Given the description of an element on the screen output the (x, y) to click on. 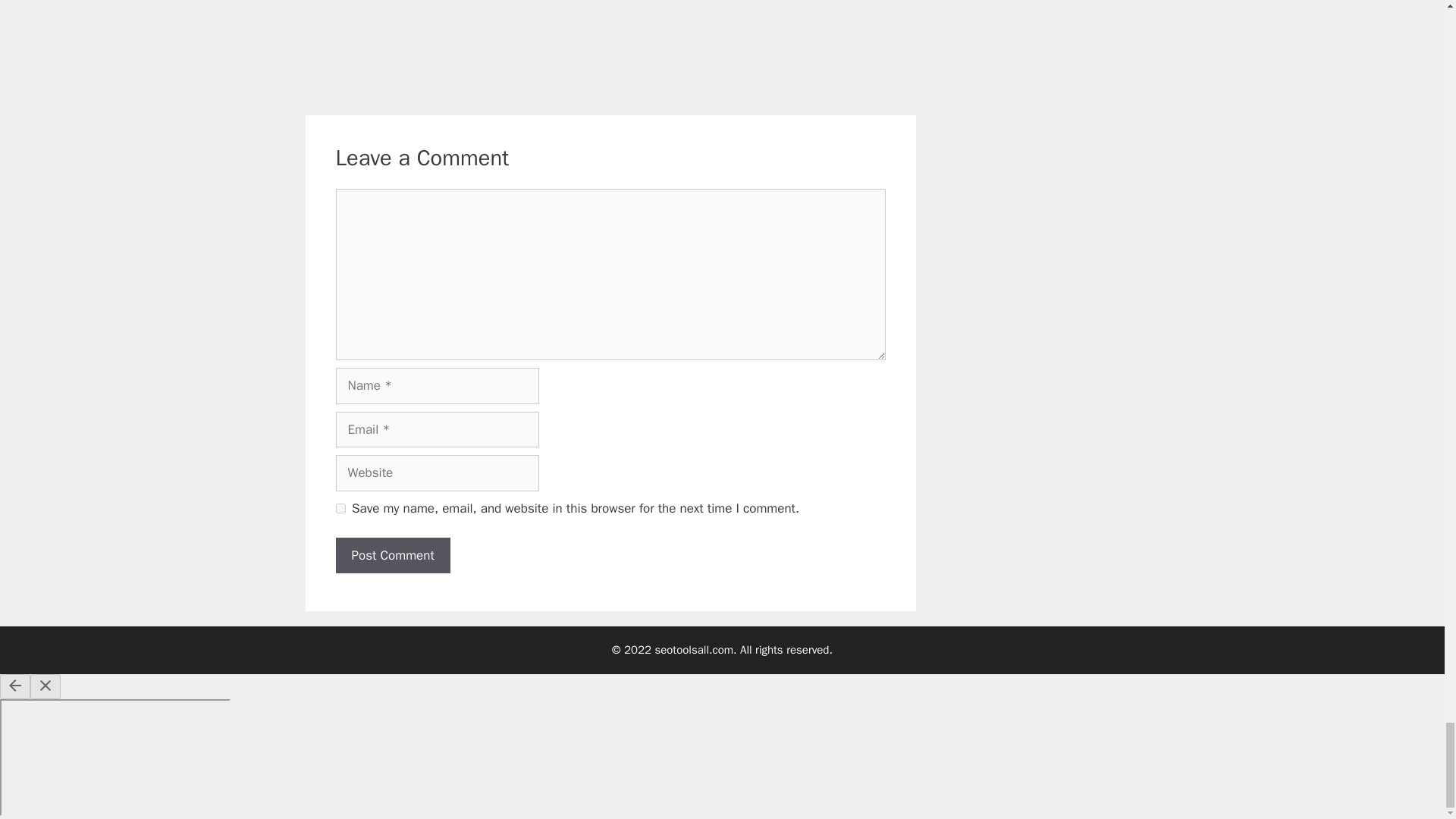
yes (339, 508)
Post Comment (391, 555)
Post Comment (391, 555)
